Given the description of an element on the screen output the (x, y) to click on. 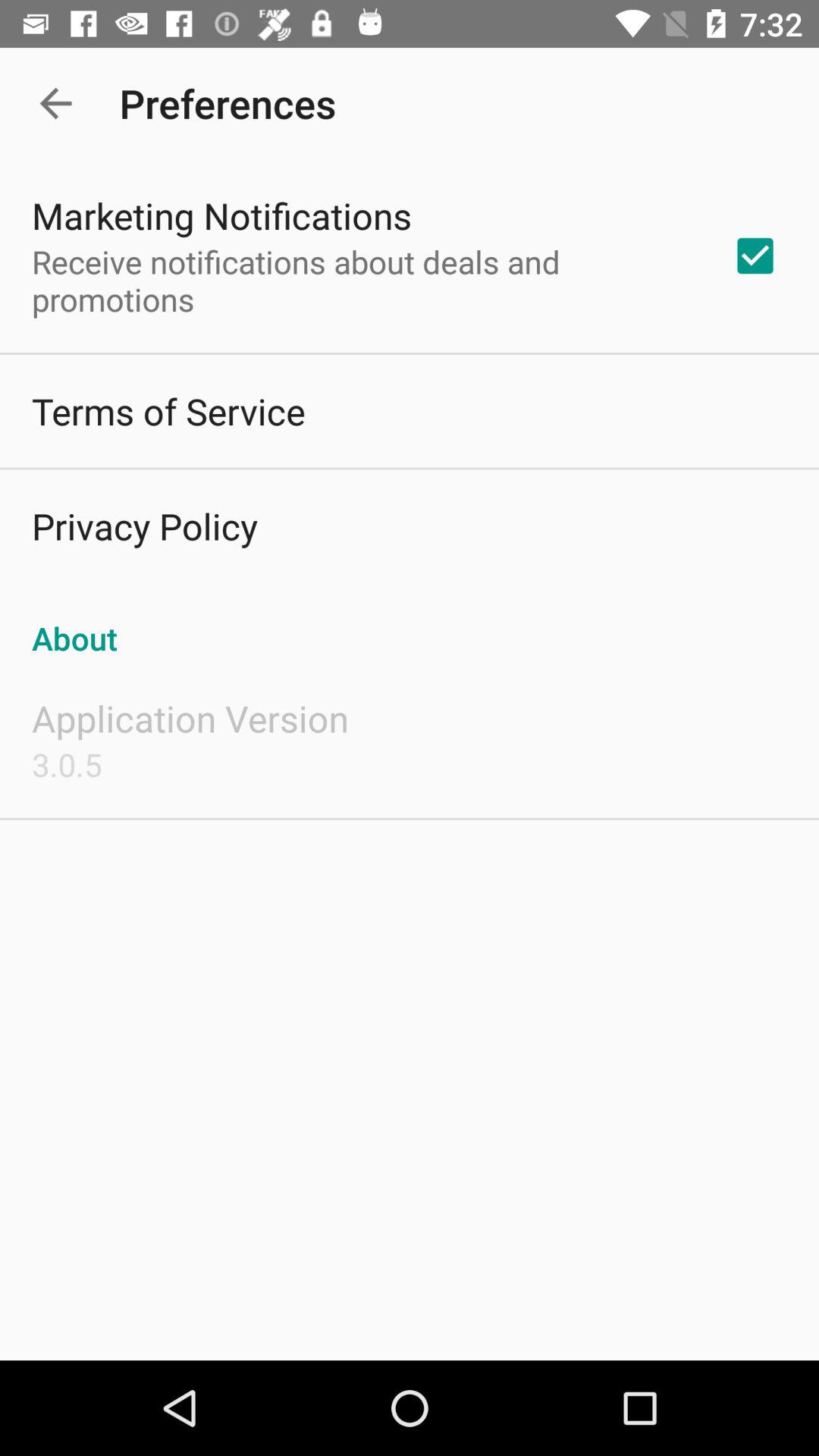
turn off the item above privacy policy (168, 410)
